Given the description of an element on the screen output the (x, y) to click on. 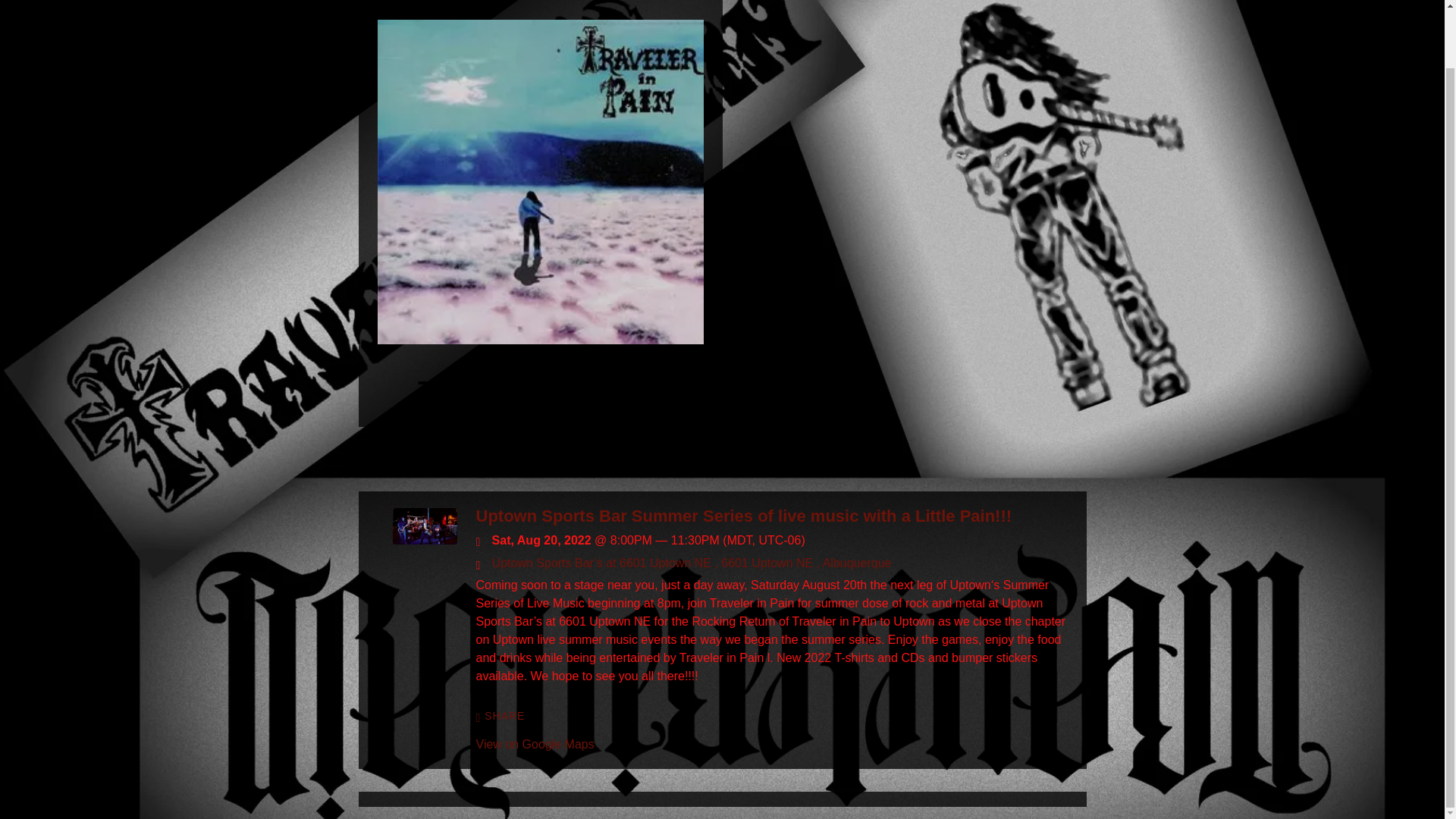
SHARE (500, 716)
View on Google Maps (535, 744)
View on Google Maps (691, 562)
